Given the description of an element on the screen output the (x, y) to click on. 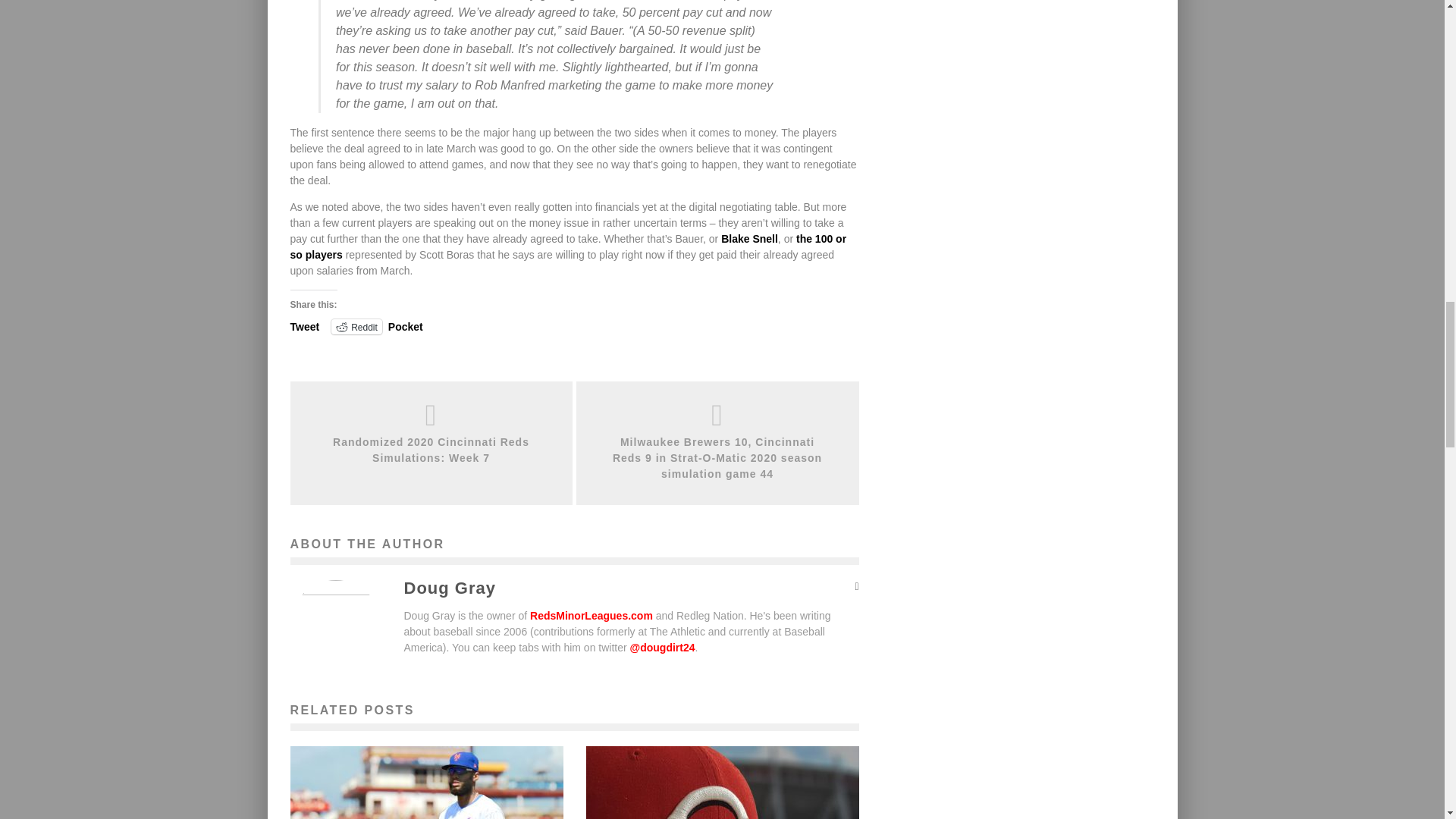
Click to share on Reddit (356, 326)
Blake Snell (748, 238)
